Given the description of an element on the screen output the (x, y) to click on. 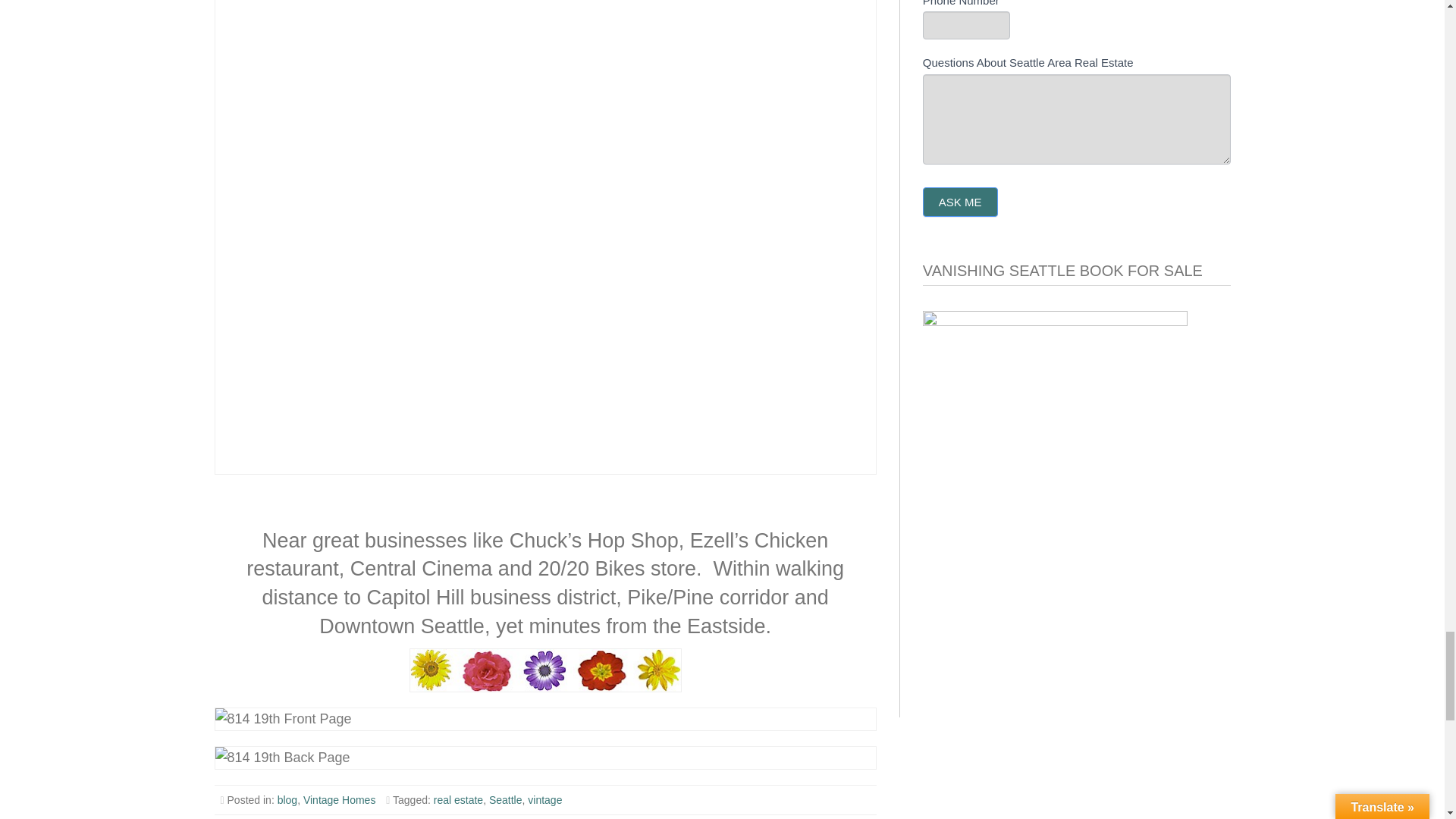
Ask Me (960, 202)
